Given the description of an element on the screen output the (x, y) to click on. 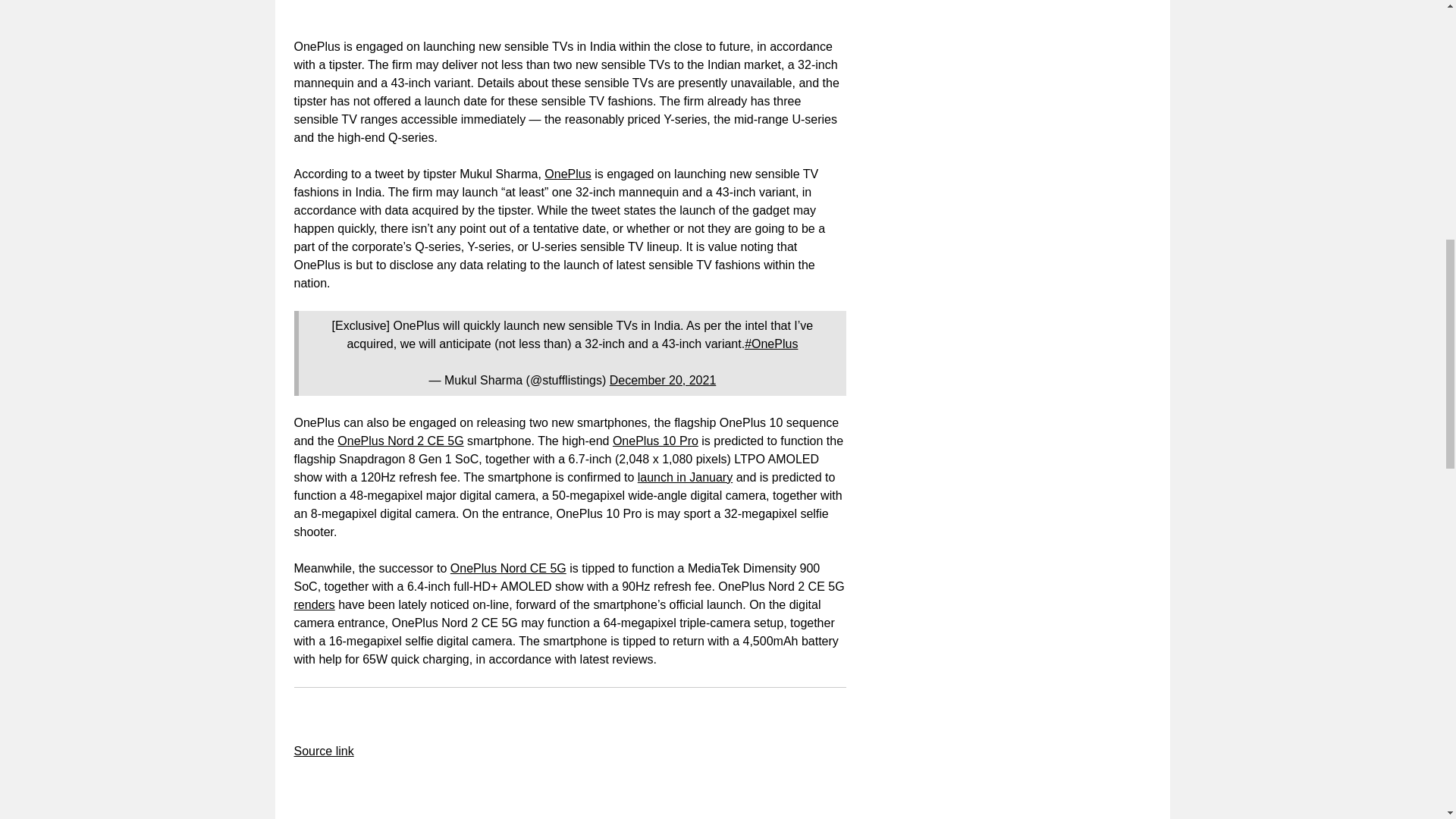
OnePlus 10 Pro (655, 440)
renders (314, 604)
OnePlus Nord 2 CE 5G (400, 440)
December 20, 2021 (663, 379)
Source link (323, 750)
OnePlus (567, 173)
OnePlus Nord CE 5G (507, 567)
launch in January (684, 477)
